Given the description of an element on the screen output the (x, y) to click on. 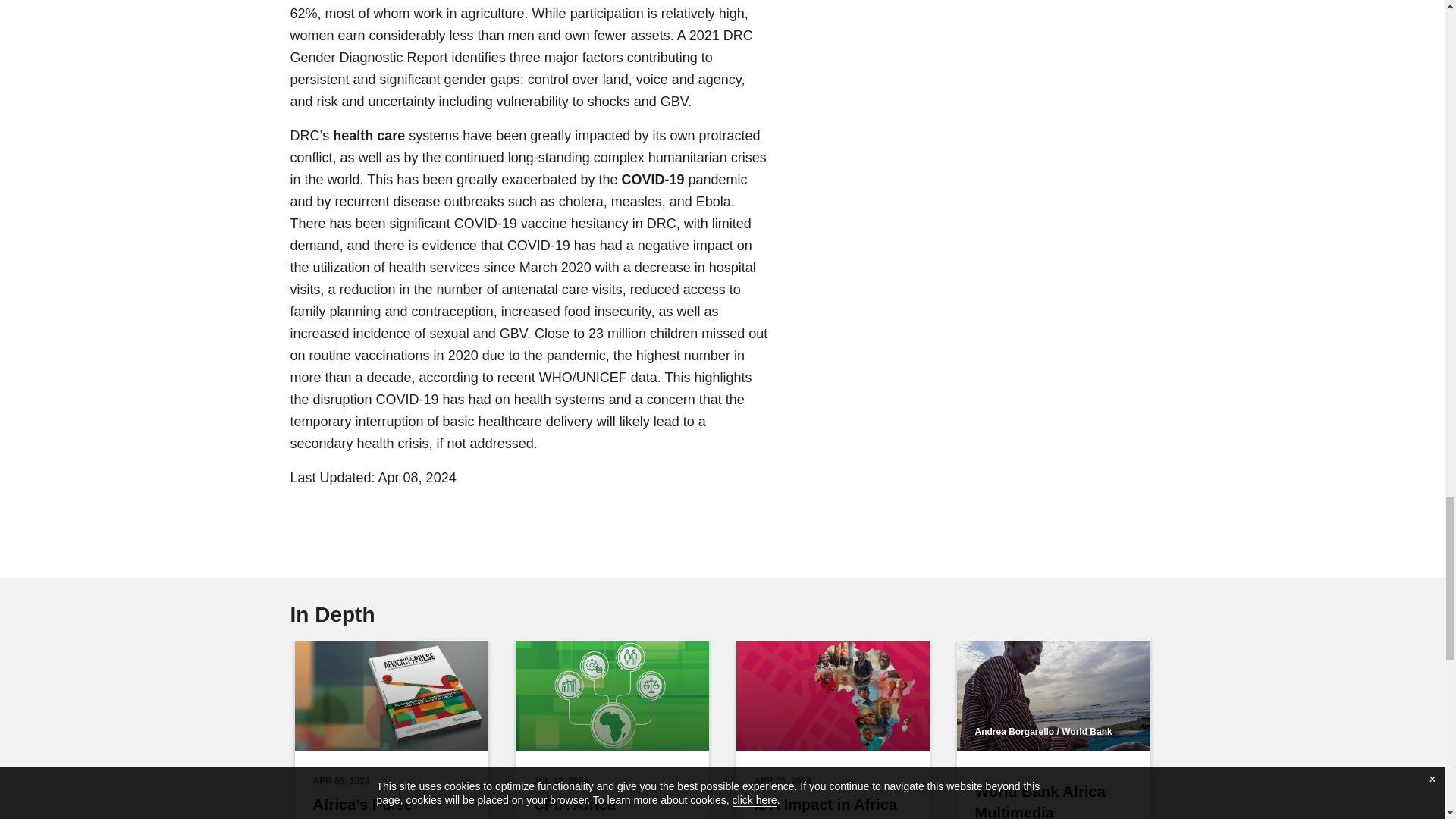
Africa Pulse (390, 695)
The World Bank (1053, 695)
afr-ida-20-780.jpg (831, 695)
